Given the description of an element on the screen output the (x, y) to click on. 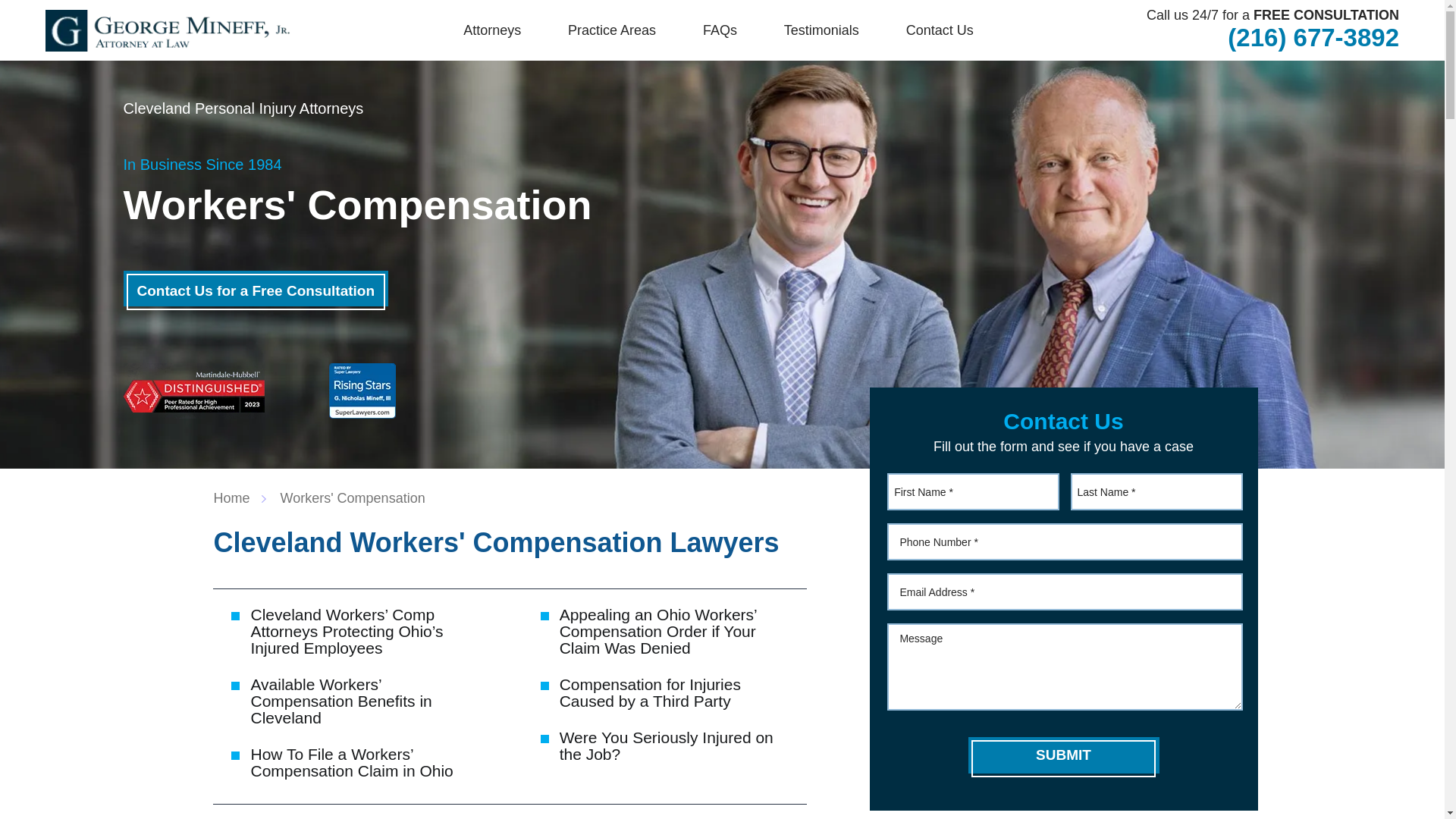
FAQs (719, 30)
Home (239, 498)
Were You Seriously Injured on the Job? (666, 745)
Compensation for Injuries Caused by a Third Party (650, 692)
Contact Us (939, 30)
Practice Areas (612, 30)
Testimonials (821, 30)
Attorneys (491, 30)
Contact Us for a Free Consultation (255, 288)
George Mineff, Jr., Attorney at Law (167, 30)
Submit (1063, 755)
